Given the description of an element on the screen output the (x, y) to click on. 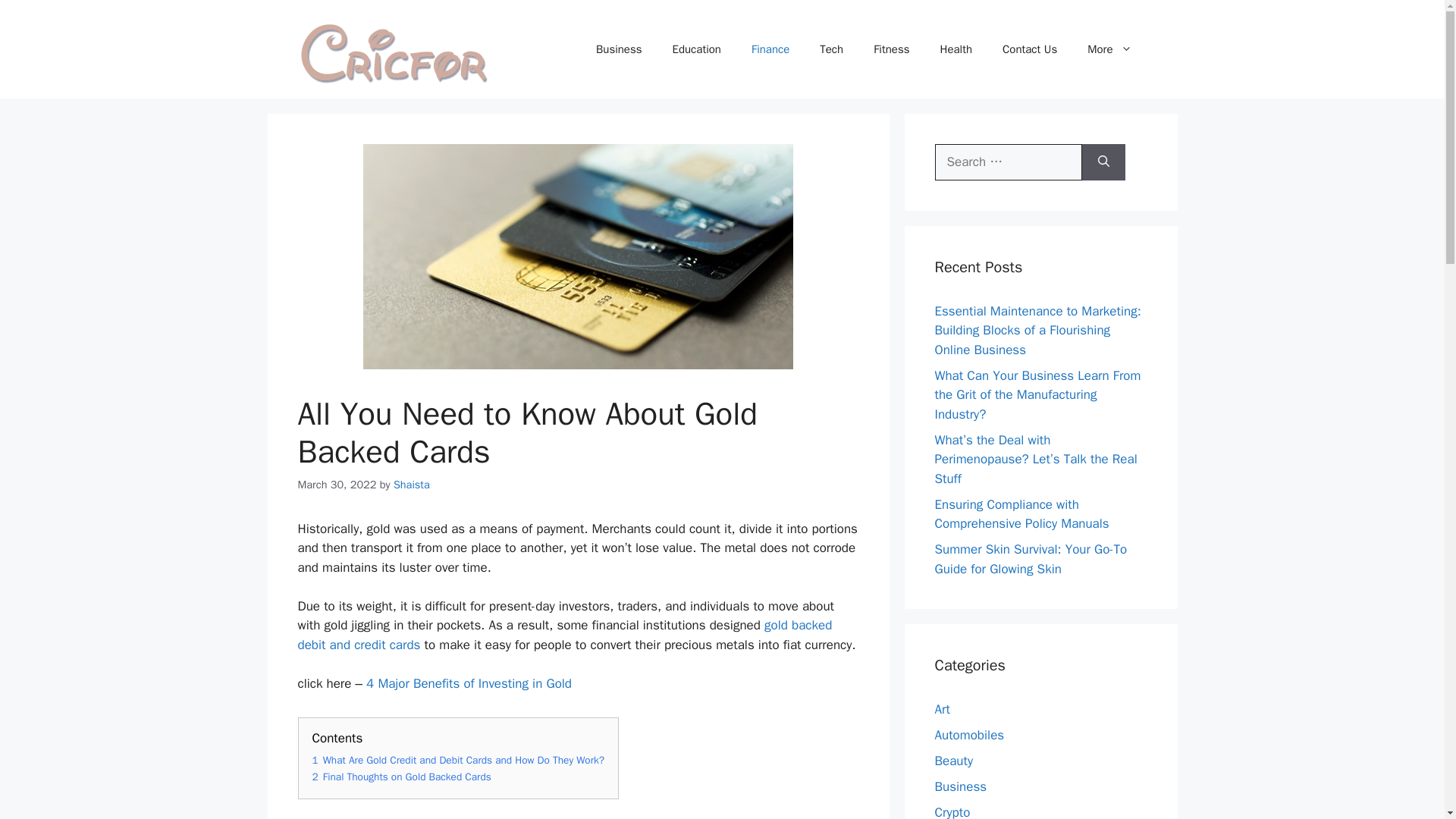
Summer Skin Survival: Your Go-To Guide for Glowing Skin (1030, 559)
Health (956, 49)
4 Major Benefits of Investing in Gold (467, 683)
Tech (832, 49)
Fitness (891, 49)
More (1109, 49)
Beauty (953, 760)
2 Final Thoughts on Gold Backed Cards (402, 776)
